Given the description of an element on the screen output the (x, y) to click on. 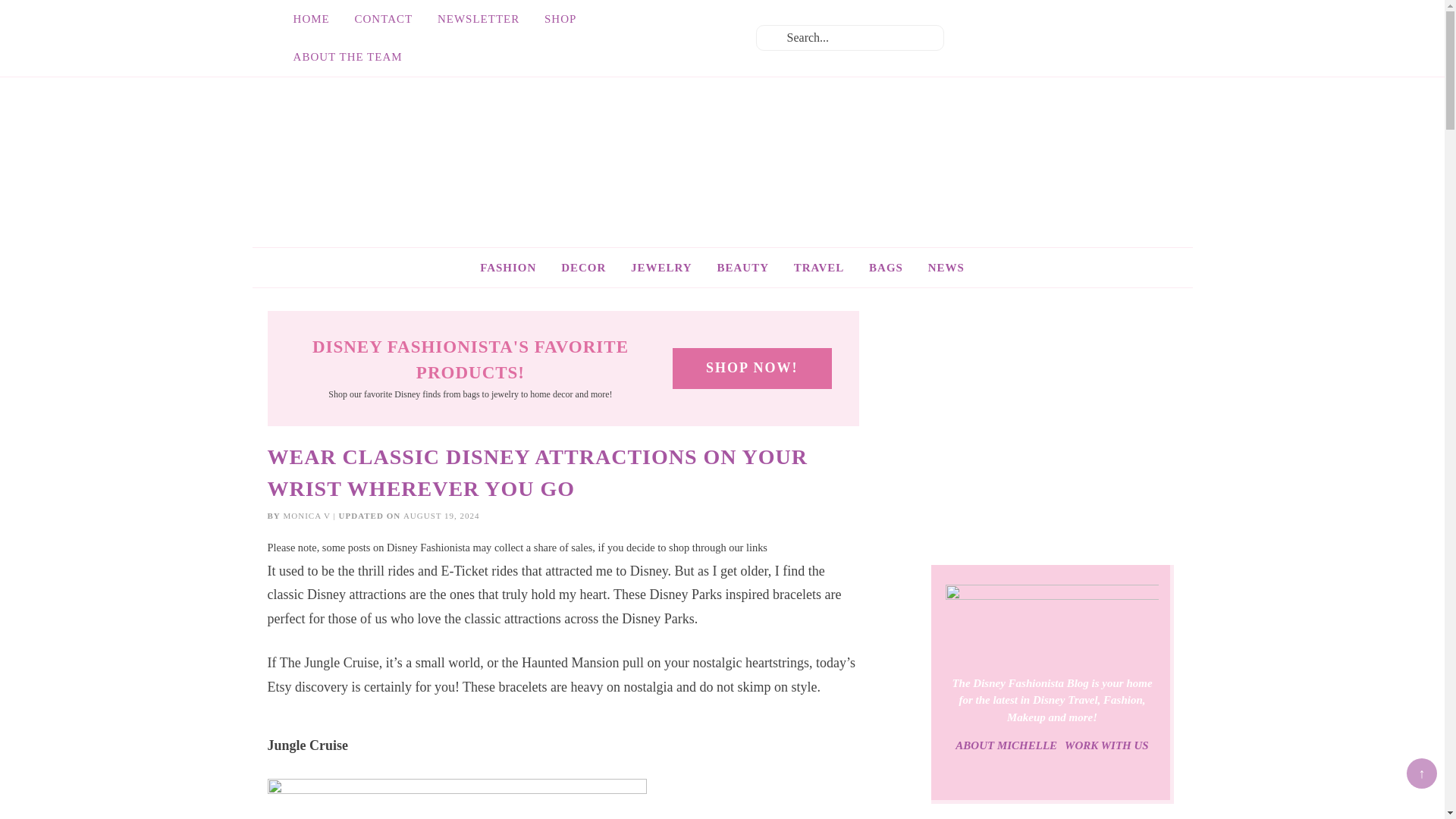
SHOP (560, 18)
ABOUT THE TEAM (347, 56)
CONTACT (383, 18)
Want to go to Disney? (819, 267)
The Latest News! (946, 267)
NEWSLETTER (477, 18)
HOME (311, 18)
